Given the description of an element on the screen output the (x, y) to click on. 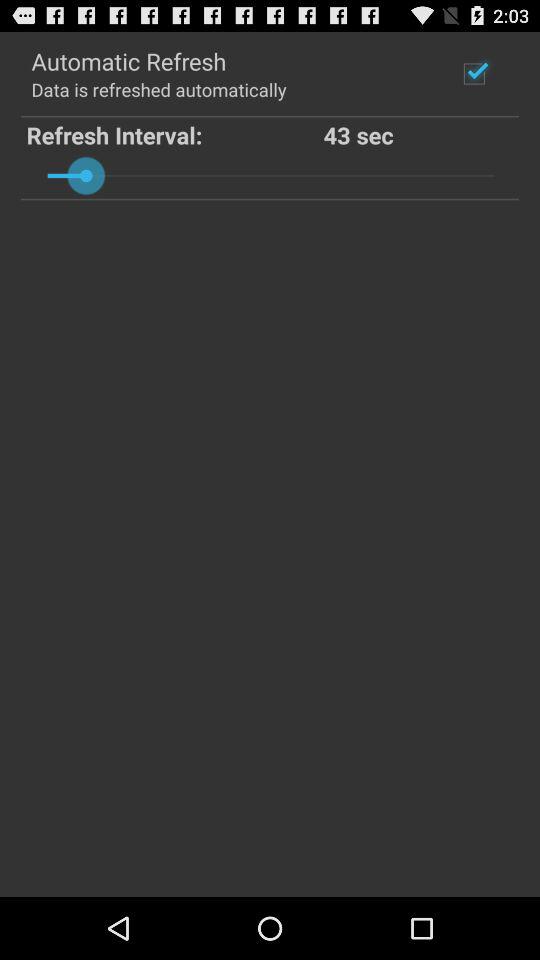
launch 43 sec (419, 134)
